Given the description of an element on the screen output the (x, y) to click on. 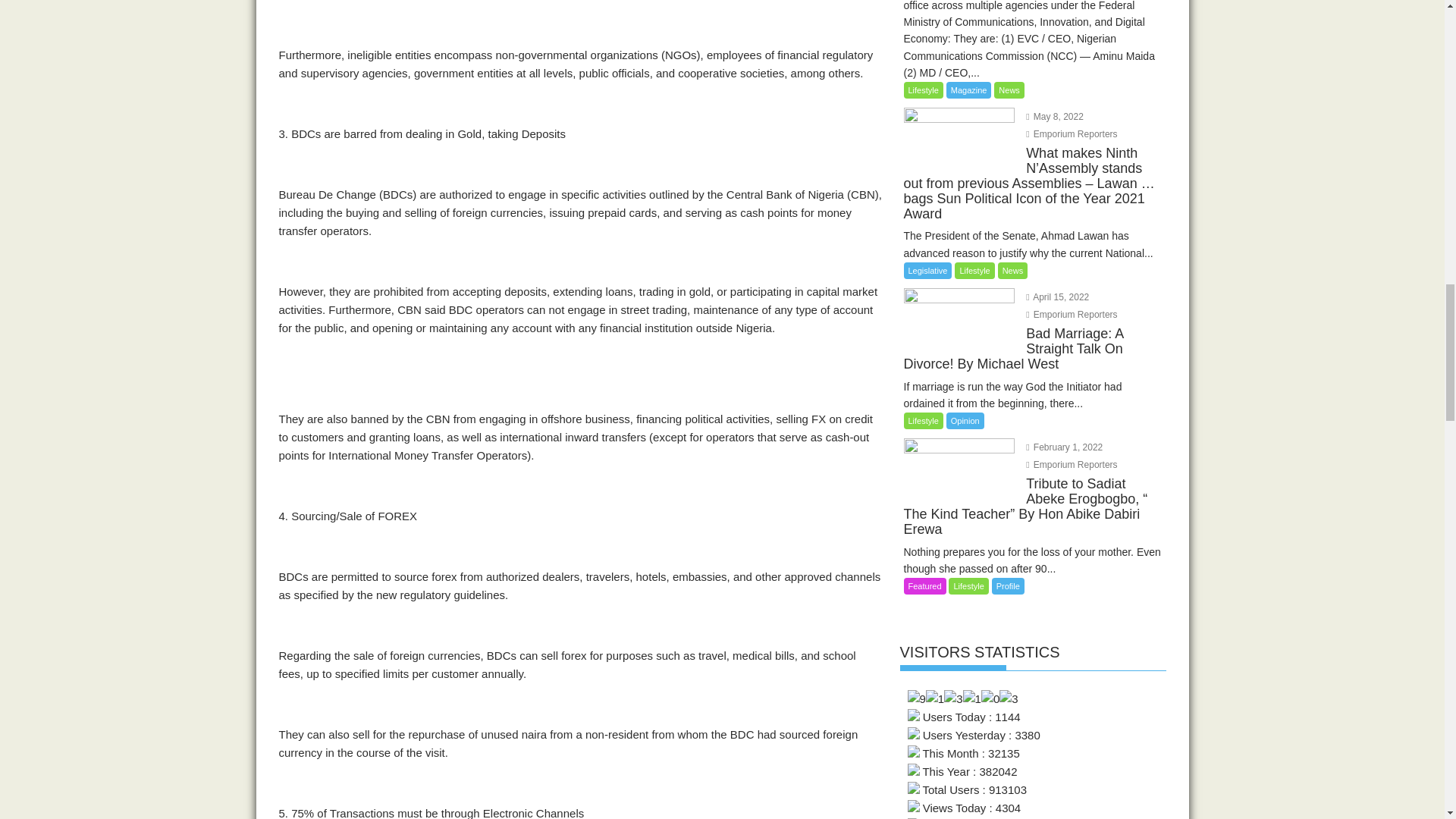
Emporium Reporters (1071, 133)
Emporium Reporters (1071, 314)
Emporium Reporters (1071, 464)
